Given the description of an element on the screen output the (x, y) to click on. 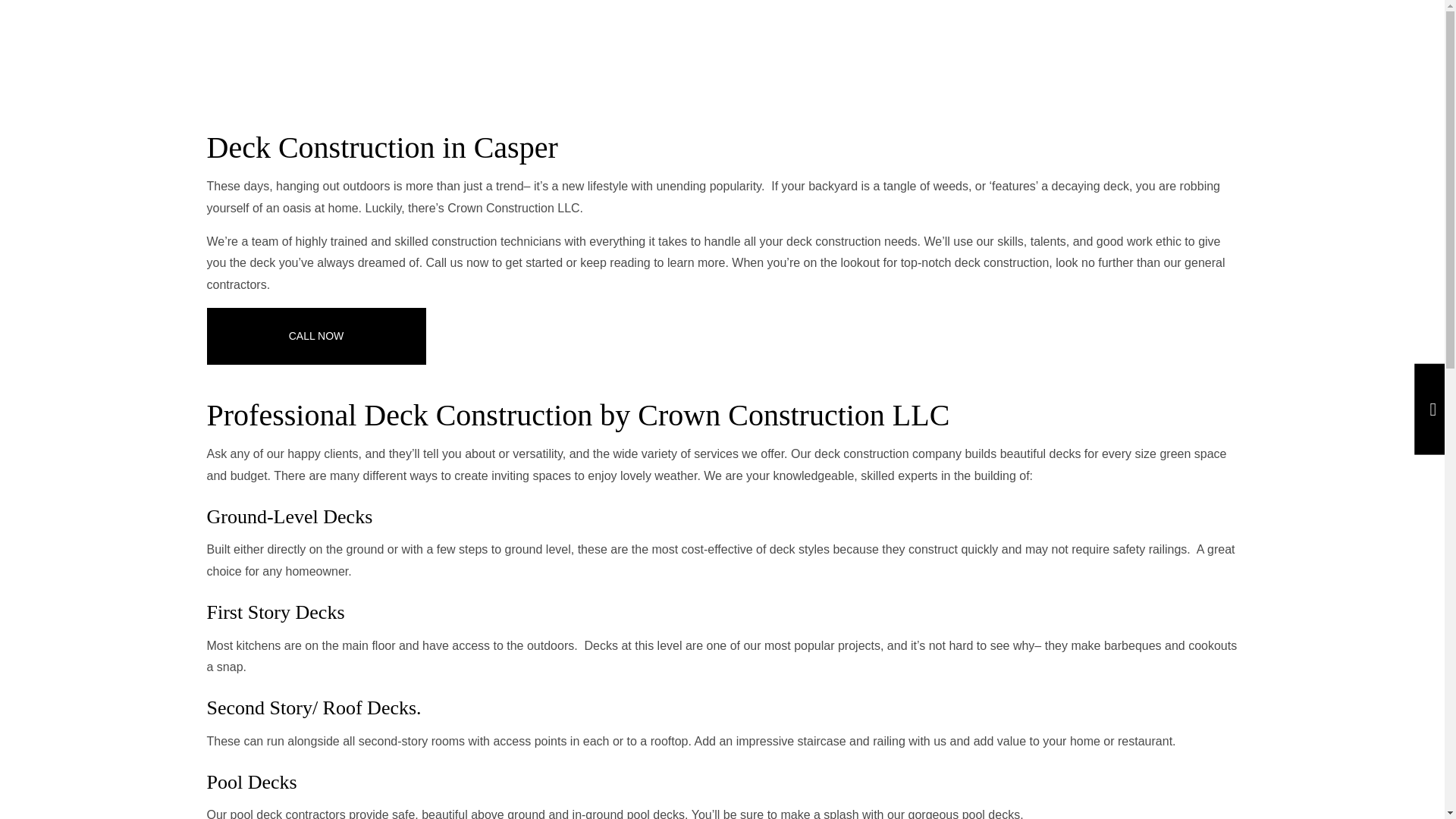
deck construction (886, 453)
general contractor (715, 273)
